Given the description of an element on the screen output the (x, y) to click on. 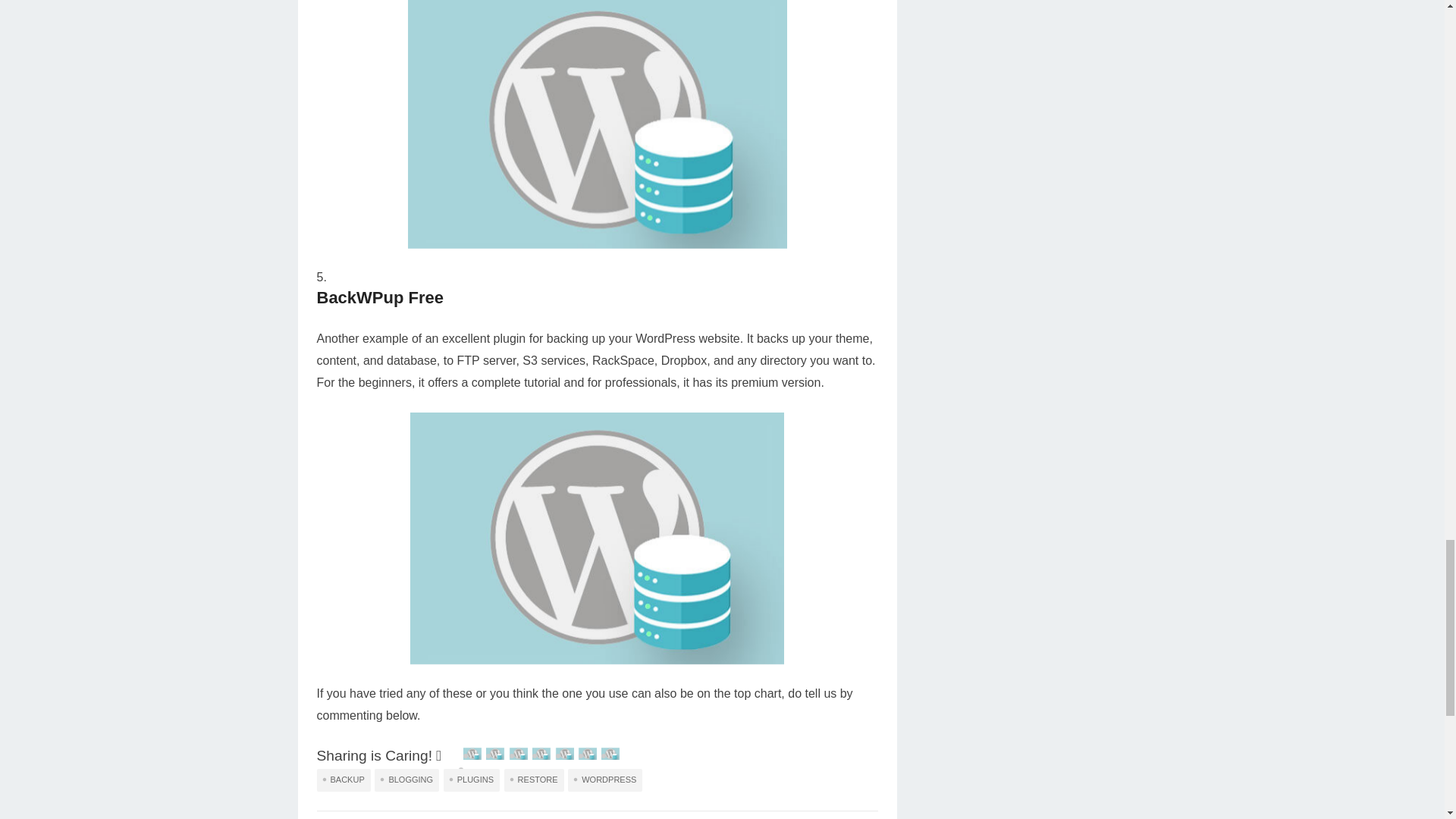
Share via LinkedIn (564, 755)
BLOGGING (406, 780)
WORDPRESS (604, 780)
BACKUP (344, 780)
Share via Twitter (518, 755)
Share via Google (494, 755)
Share via Facebook (472, 755)
Share via StumbleUpon (541, 755)
PLUGINS (471, 780)
RESTORE (533, 780)
